Given the description of an element on the screen output the (x, y) to click on. 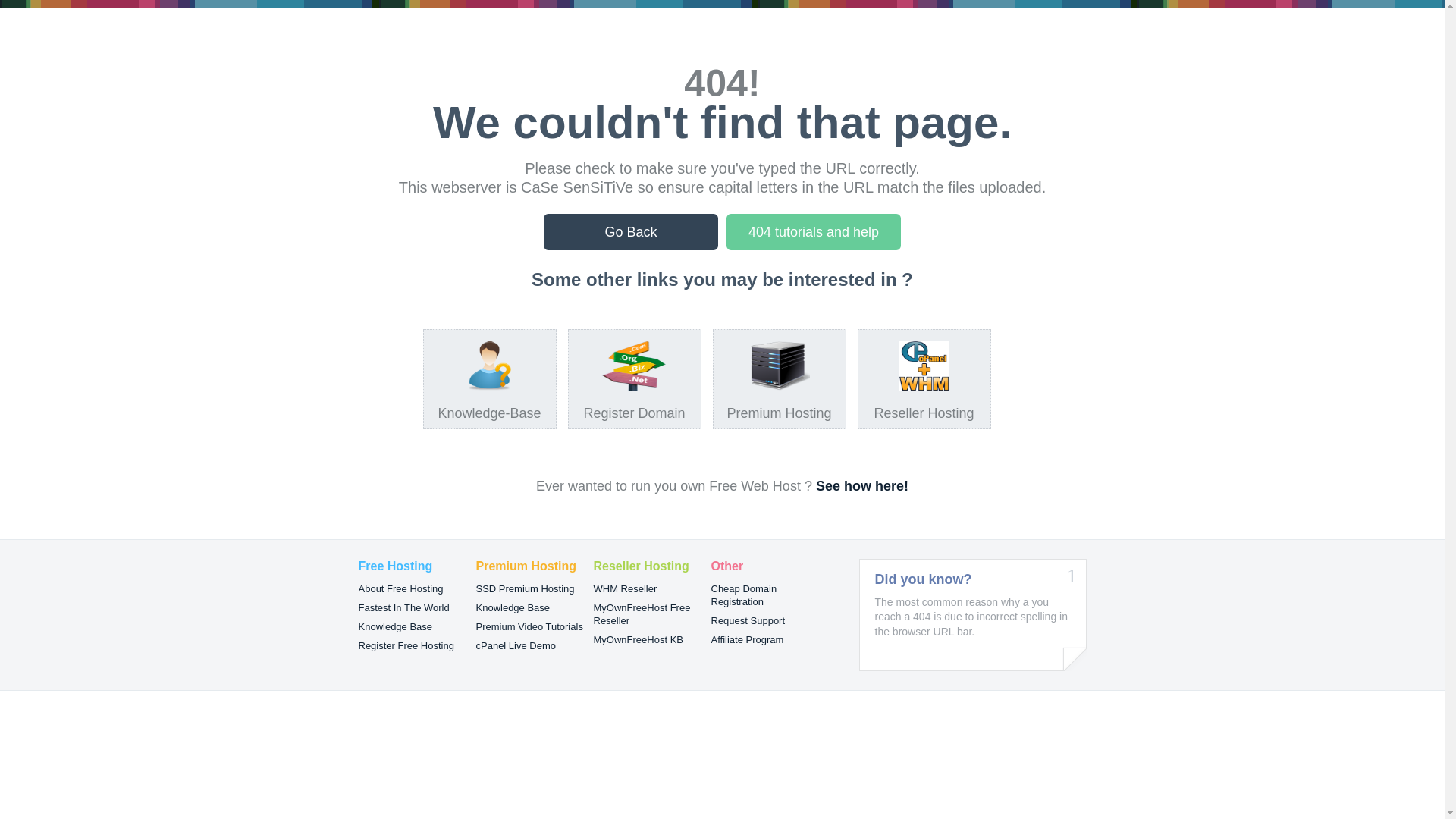
MyOwnFreeHost Free Reseller Element type: text (641, 614)
Go Back Element type: text (630, 231)
SSD Premium Hosting Element type: text (525, 588)
Premium Video Tutorials Element type: text (529, 626)
WHM Reseller Element type: text (624, 588)
MyOwnFreeHost KB Element type: text (637, 639)
See how here! Element type: text (861, 485)
Knowledge Base Element type: text (394, 626)
Cheap Domain Registration Element type: text (744, 595)
Request Support Element type: text (748, 620)
About Free Hosting Element type: text (399, 588)
cPanel Live Demo Element type: text (516, 645)
Register Free Hosting Element type: text (405, 645)
Knowledge Base Element type: text (513, 607)
Fastest In The World Element type: text (402, 607)
Affiliate Program Element type: text (747, 639)
404 tutorials and help Element type: text (813, 231)
